Given the description of an element on the screen output the (x, y) to click on. 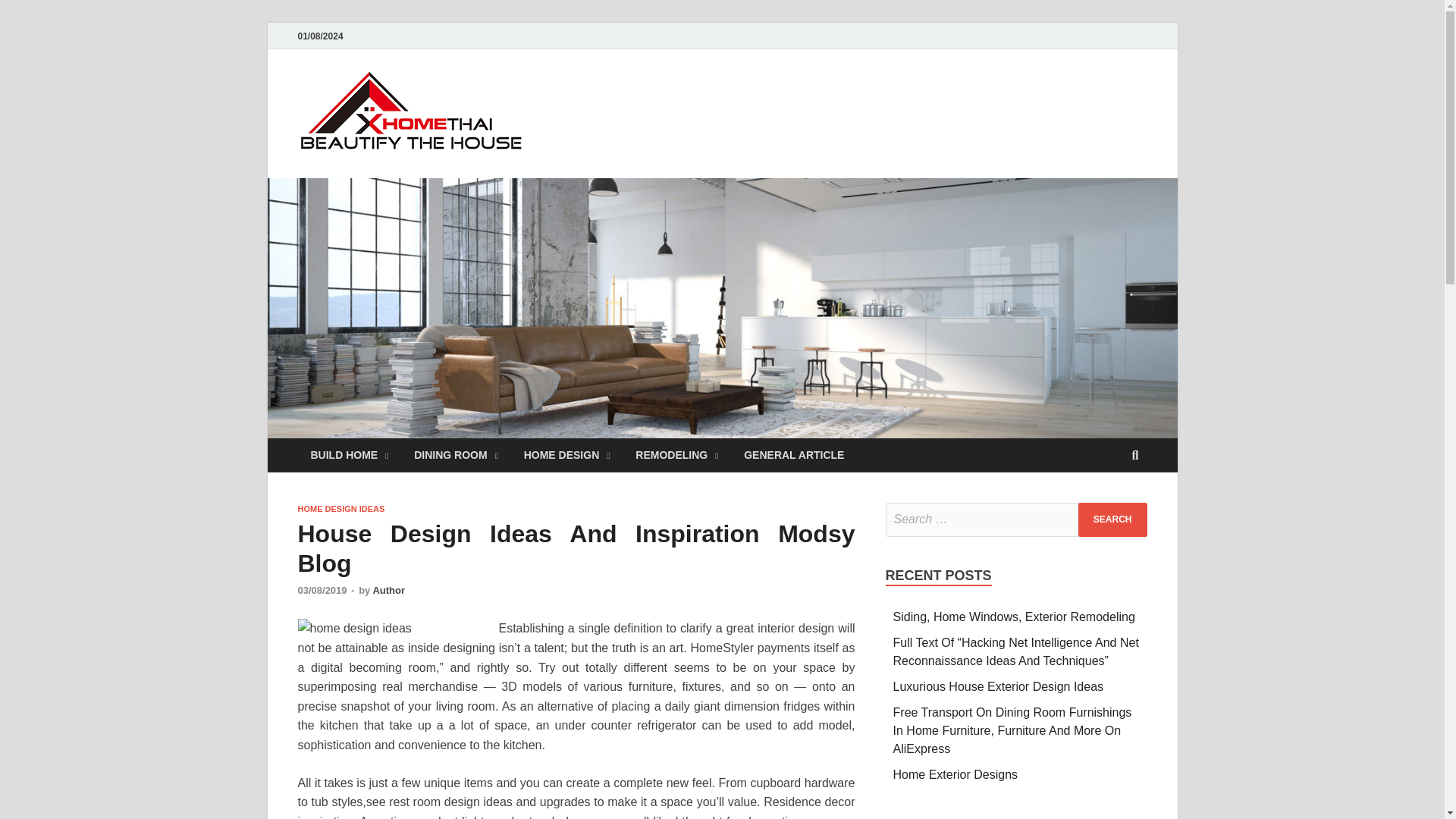
REMODELING (676, 455)
BUILD HOME (349, 455)
Search (1112, 519)
homethai.net (621, 100)
DINING ROOM (456, 455)
GENERAL ARTICLE (793, 455)
HOME DESIGN (567, 455)
Search (1112, 519)
